Given the description of an element on the screen output the (x, y) to click on. 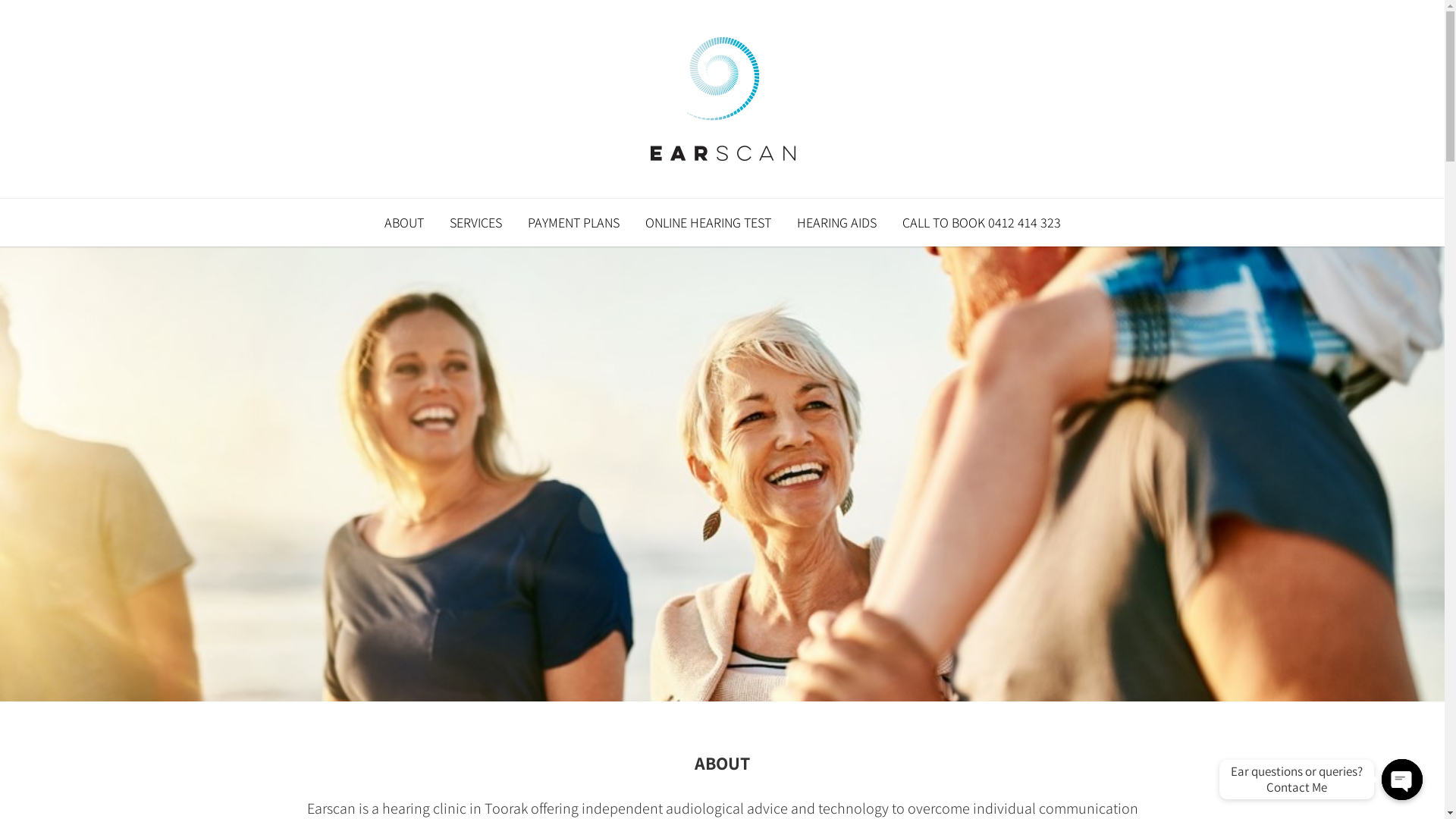
PAYMENT PLANS Element type: text (572, 222)
HEARING AIDS Element type: text (836, 222)
ONLINE HEARING TEST Element type: text (707, 222)
SERVICES Element type: text (475, 222)
Search Element type: text (35, 16)
CALL TO BOOK 0412 414 323 Element type: text (980, 222)
ABOUT Element type: text (404, 222)
